Given the description of an element on the screen output the (x, y) to click on. 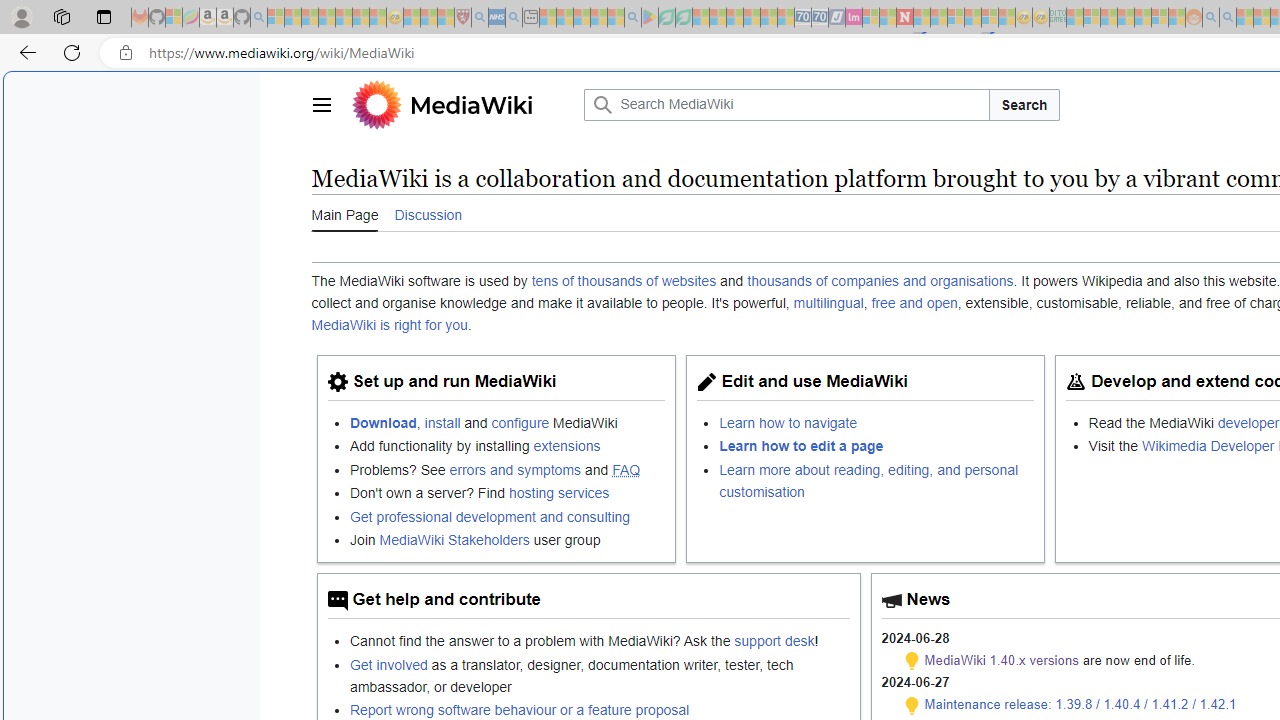
Kinda Frugal - MSN - Sleeping (1142, 17)
Main menu (320, 104)
Learn how to edit a page (801, 446)
Bluey: Let's Play! - Apps on Google Play - Sleeping (649, 17)
errors and symptoms (515, 469)
NCL Adult Asthma Inhaler Choice Guideline - Sleeping (497, 17)
